Given the description of an element on the screen output the (x, y) to click on. 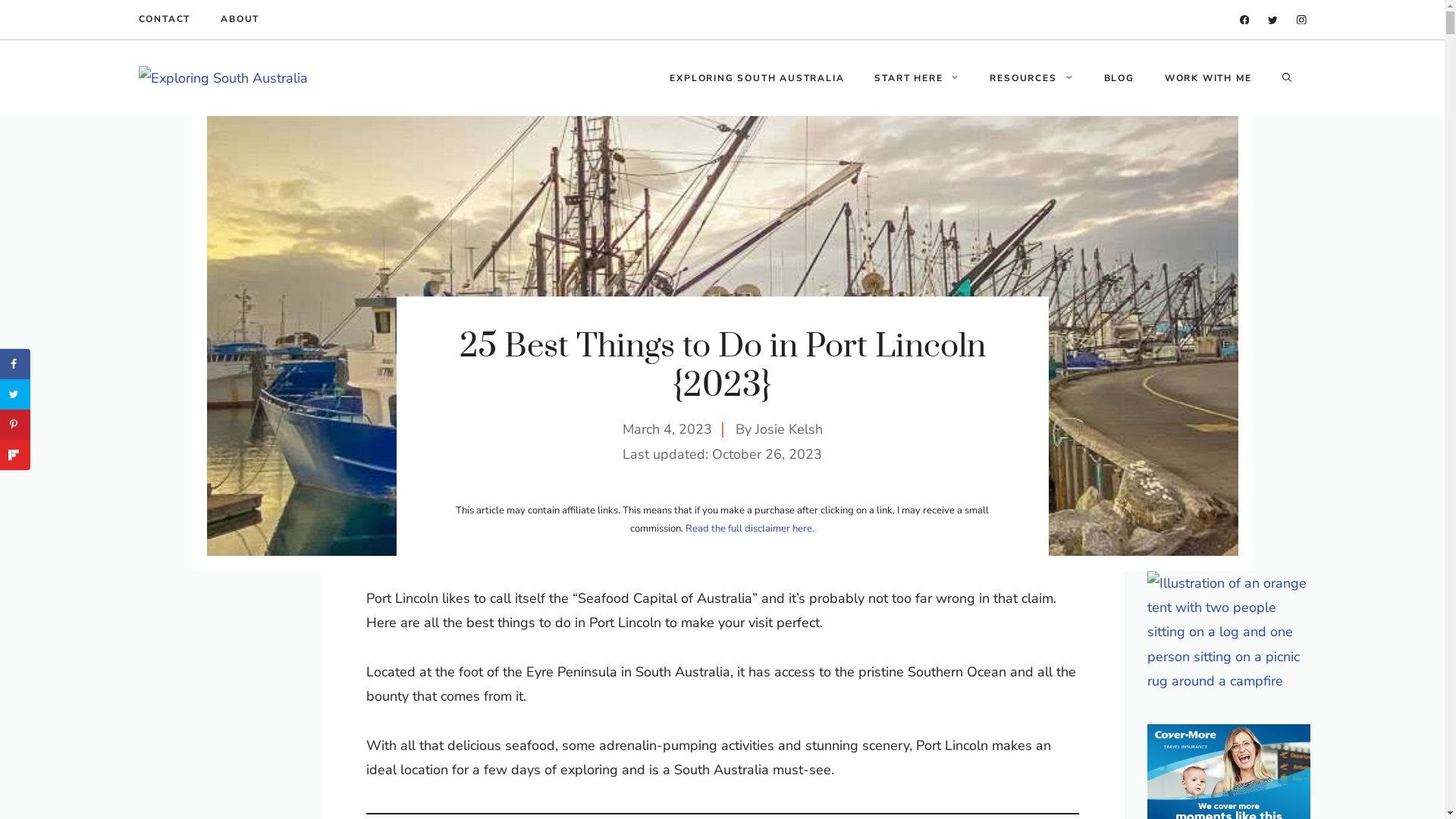
RESOURCES Element type: text (1031, 77)
ABOUT Element type: text (239, 19)
Share on Twitter Element type: hover (15, 394)
WORK WITH ME Element type: text (1208, 77)
Share on Facebook Element type: hover (15, 363)
CONTACT Element type: text (164, 19)
Save to Pinterest Element type: hover (15, 424)
Josie Kelsh Element type: text (788, 429)
Read the full disclaimer here Element type: text (748, 528)
BLOG Element type: text (1118, 77)
Share on Flipboard Element type: hover (15, 454)
EXPLORING SOUTH AUSTRALIA Element type: text (756, 77)
START HERE Element type: text (916, 77)
